Given the description of an element on the screen output the (x, y) to click on. 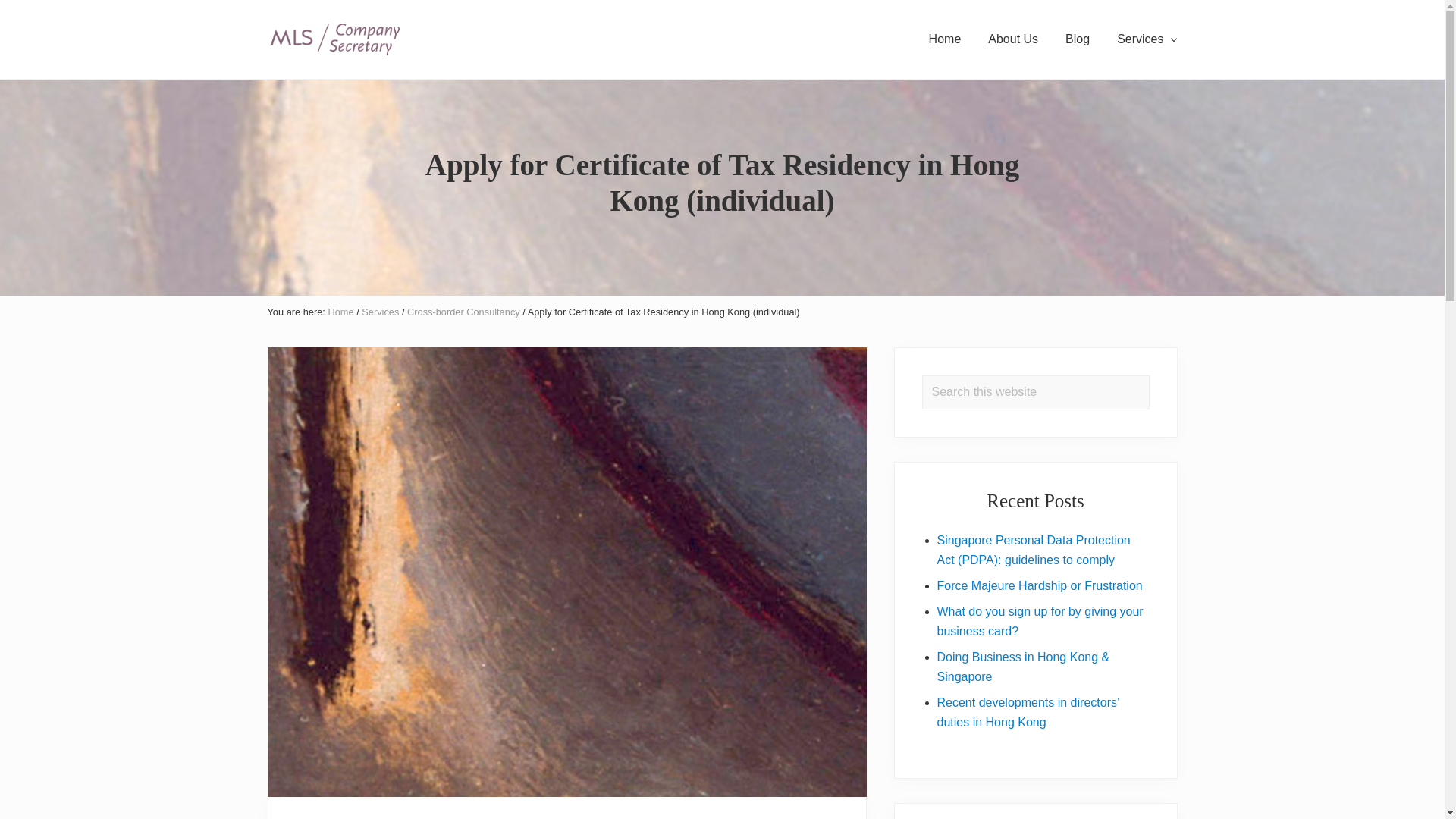
Force Majeure Hardship or Frustration (1039, 585)
What do you sign up for by giving your business card? (1039, 621)
Home (340, 311)
About Us (1012, 38)
Home (945, 38)
Services (1146, 38)
Blog (1077, 38)
